Given the description of an element on the screen output the (x, y) to click on. 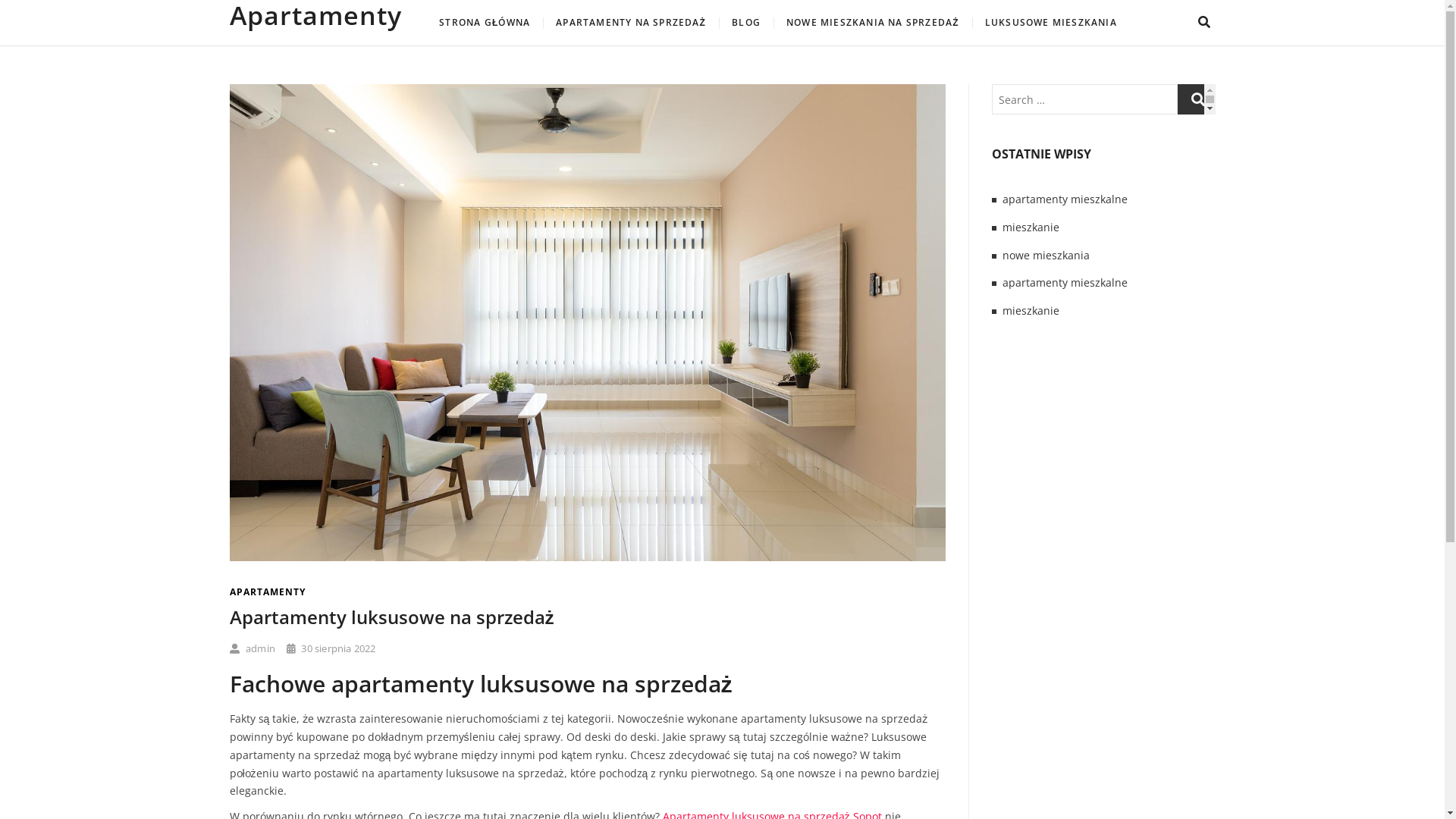
admin Element type: text (251, 648)
nowe mieszkania Element type: text (1045, 254)
LUKSUSOWE MIESZKANIA Element type: text (1050, 22)
apartamenty mieszkalne Element type: text (1064, 198)
apartamenty mieszkalne Element type: text (1064, 282)
BLOG Element type: text (745, 22)
mieszkanie Element type: text (1030, 226)
Apartamenty Element type: text (315, 15)
mieszkanie Element type: text (1030, 310)
APARTAMENTY Element type: text (266, 591)
30 sierpnia 2022 Element type: text (331, 648)
